Given the description of an element on the screen output the (x, y) to click on. 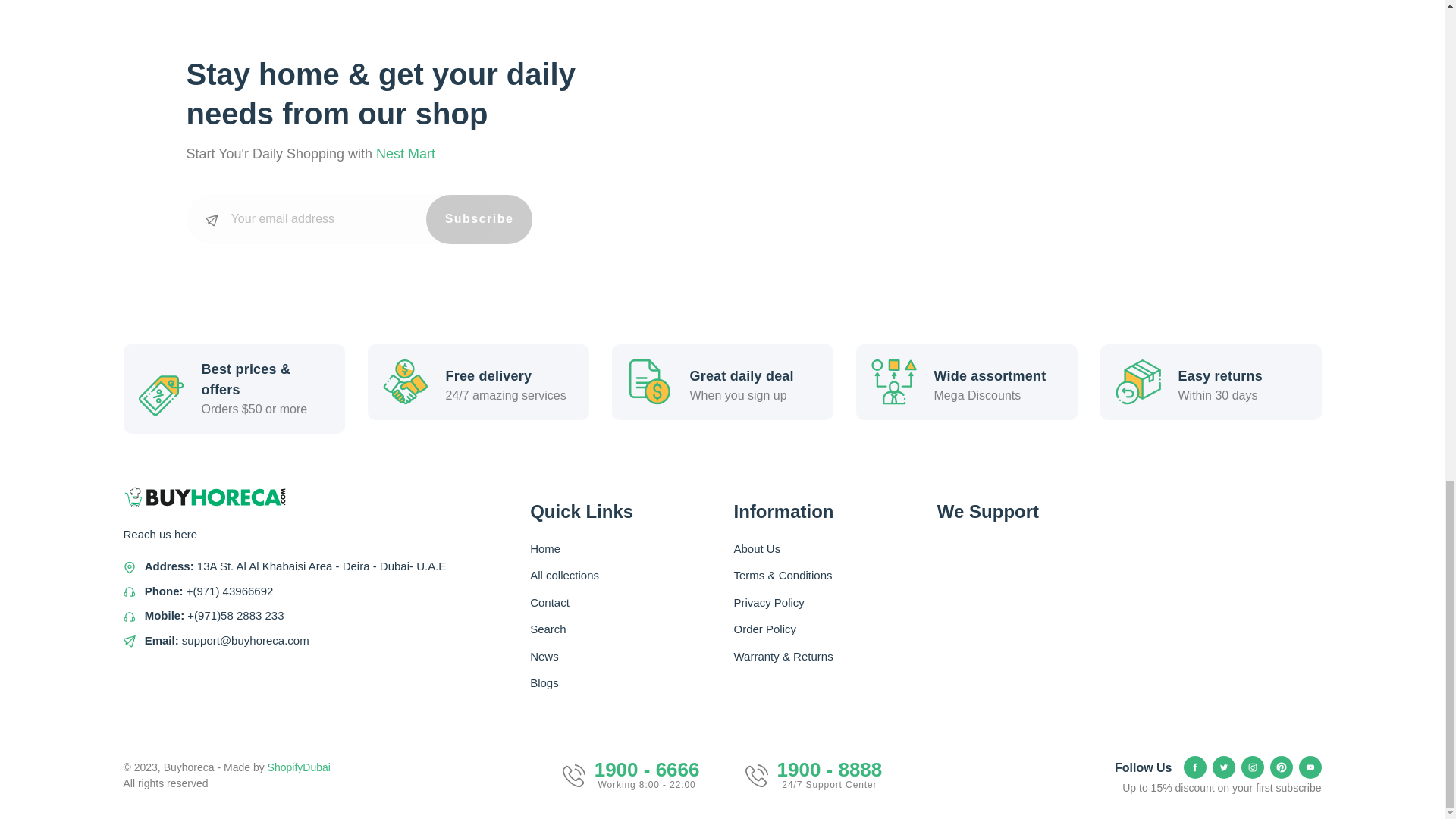
Shopify Dubai (298, 767)
